Given the description of an element on the screen output the (x, y) to click on. 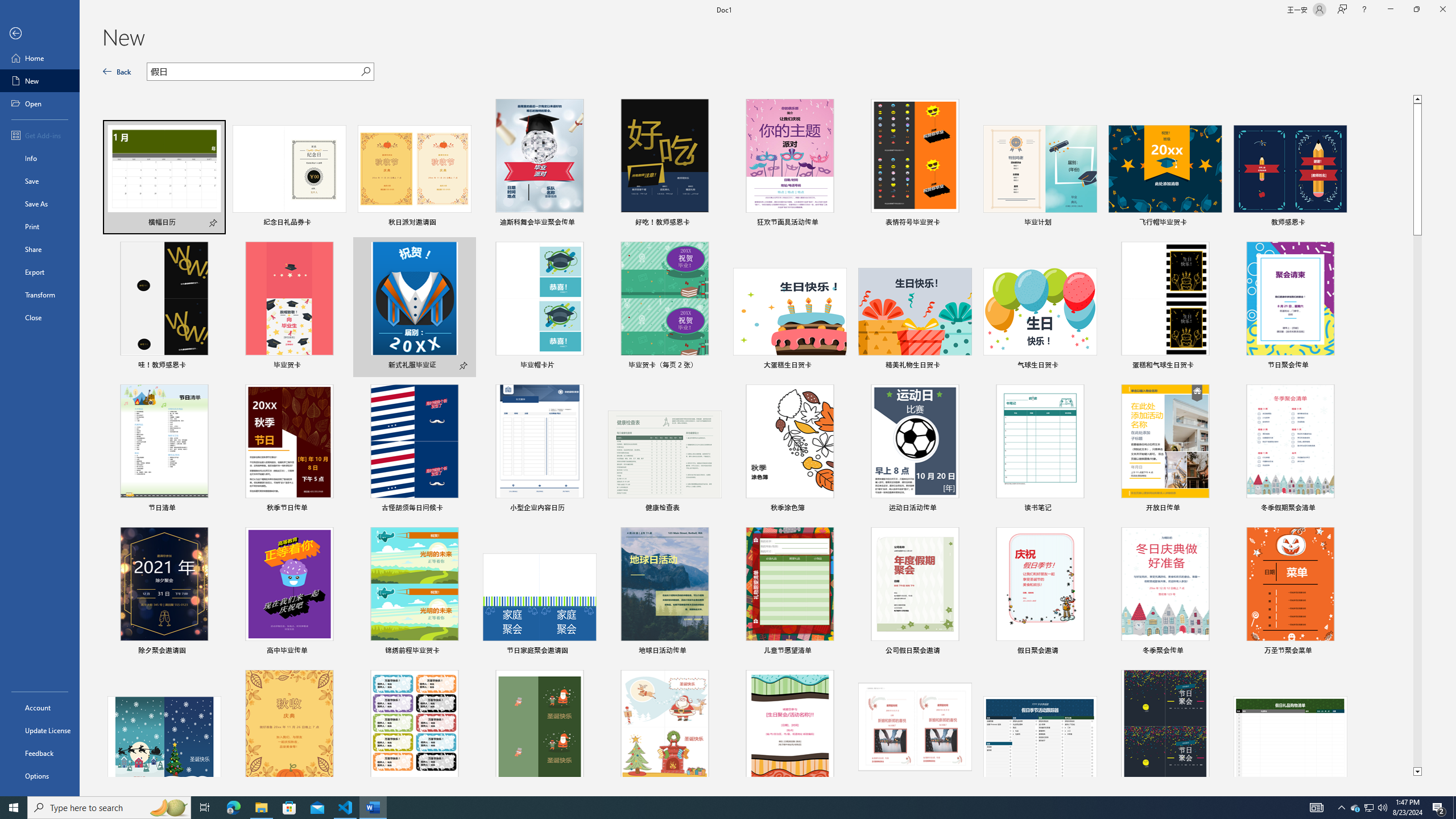
Info (40, 157)
Line down (1417, 772)
Get Add-ins (40, 134)
Page down (1417, 501)
Search for online templates (254, 73)
Transform (40, 294)
